Given the description of an element on the screen output the (x, y) to click on. 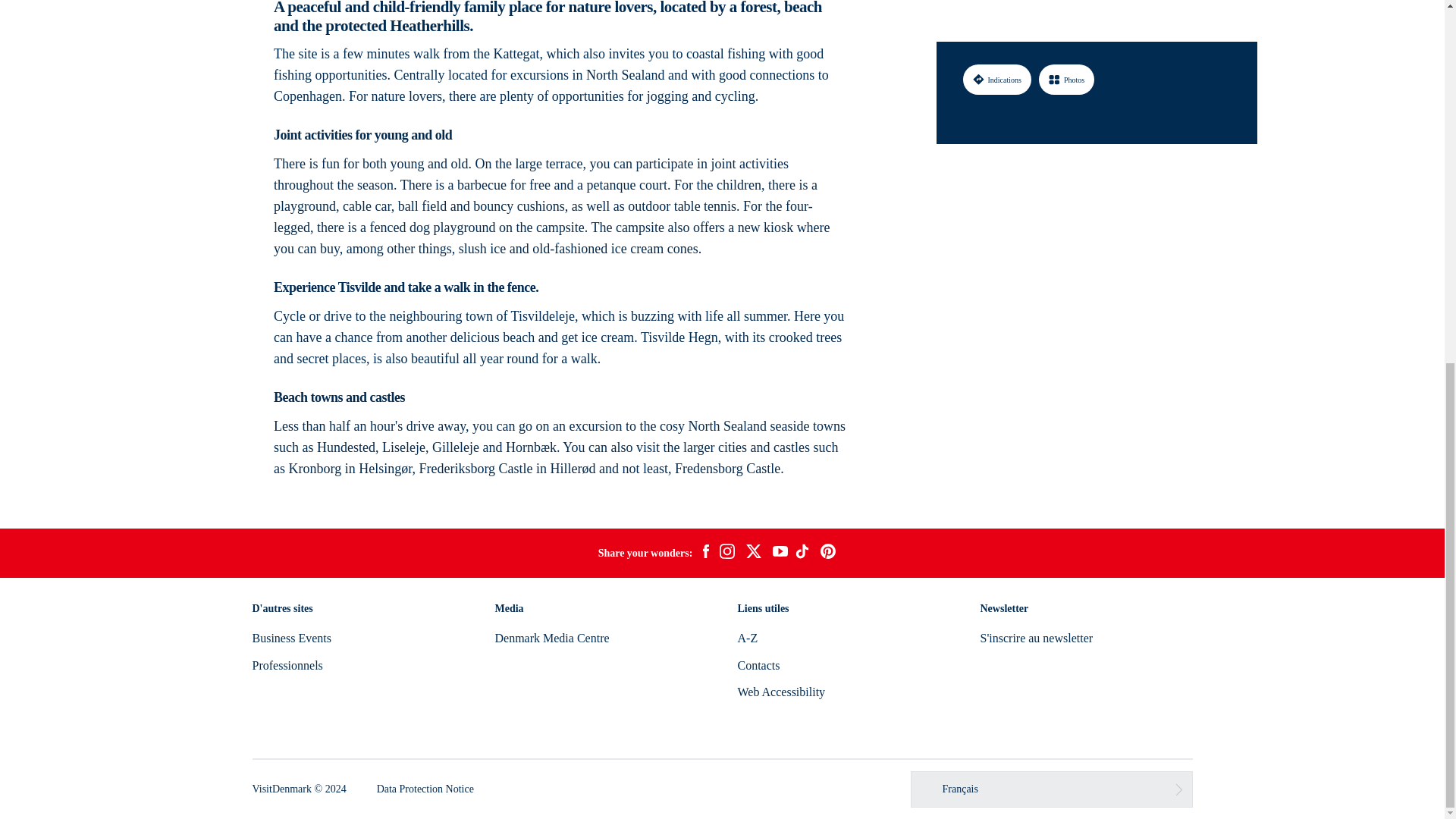
youtube (780, 553)
S'inscrire au newsletter (1036, 637)
Contacts (757, 665)
Contacts (757, 665)
Business Events (290, 637)
tiktok (804, 553)
Denmark Media Centre (551, 637)
instagram (726, 553)
pinterest (828, 553)
A-Z (746, 637)
Professionnels (286, 665)
Denmark Media Centre (551, 637)
Data Protection Notice (425, 789)
twitter (753, 553)
Data Protection Notice (425, 789)
